Given the description of an element on the screen output the (x, y) to click on. 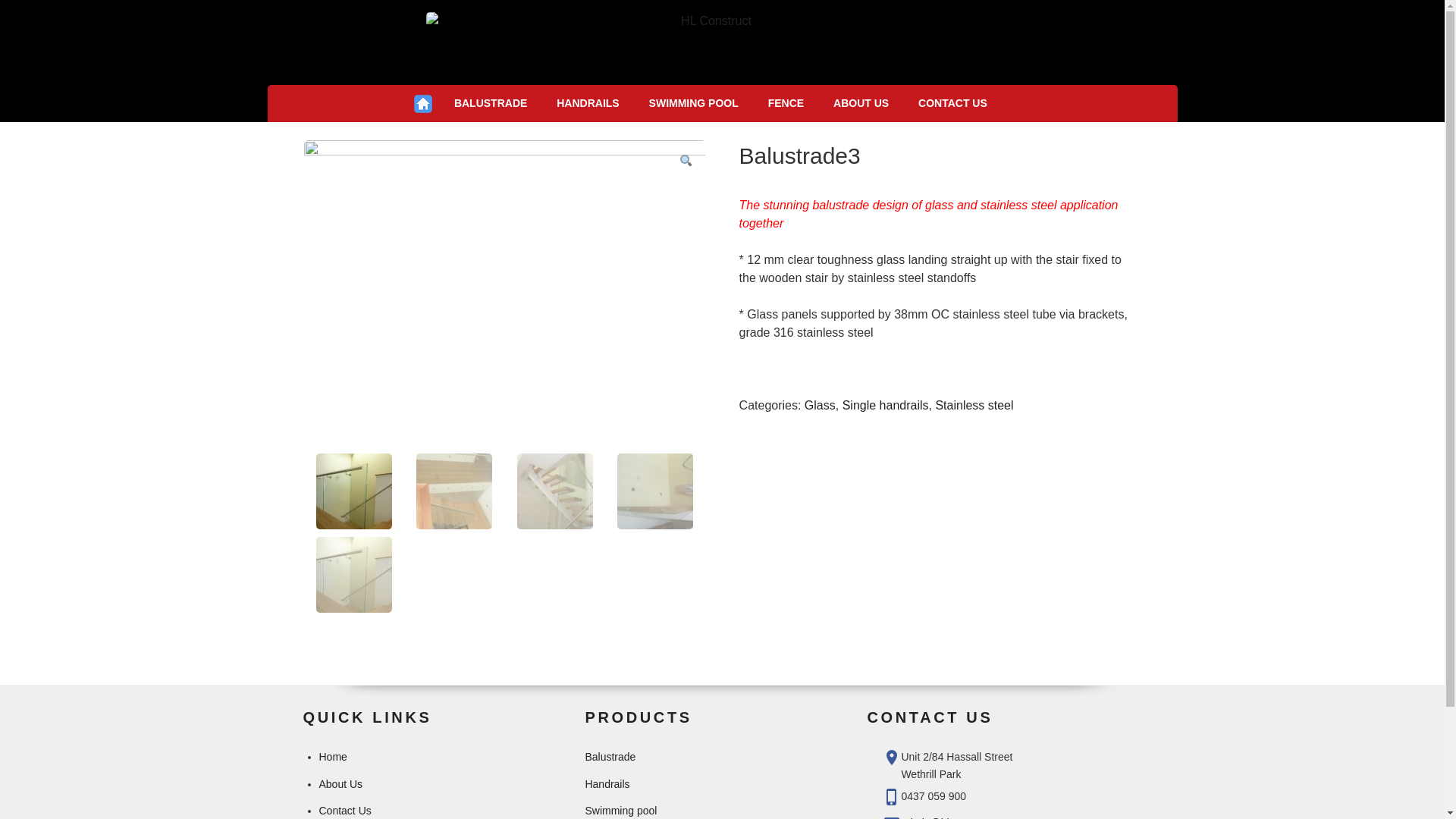
ABOUT US Element type: text (861, 103)
HANDRAILS Element type: text (587, 103)
Balustrade3-5 Element type: hover (906, 291)
SWIMMING POOL Element type: text (693, 103)
Balustrade Element type: text (609, 756)
CONTACT US Element type: text (953, 103)
HL CONSTRUCT Element type: text (423, 89)
Home Element type: text (332, 756)
BALUSTRADE Element type: text (489, 103)
Handrails Element type: text (606, 784)
Swimming pool Element type: text (620, 810)
Contact Us Element type: text (344, 810)
Glass Element type: text (819, 404)
HOME Element type: text (422, 103)
FENCE Element type: text (785, 103)
Single handrails Element type: text (885, 404)
Balustrade3-1 Element type: hover (504, 291)
Stainless steel Element type: text (974, 404)
About Us Element type: text (340, 784)
